Given the description of an element on the screen output the (x, y) to click on. 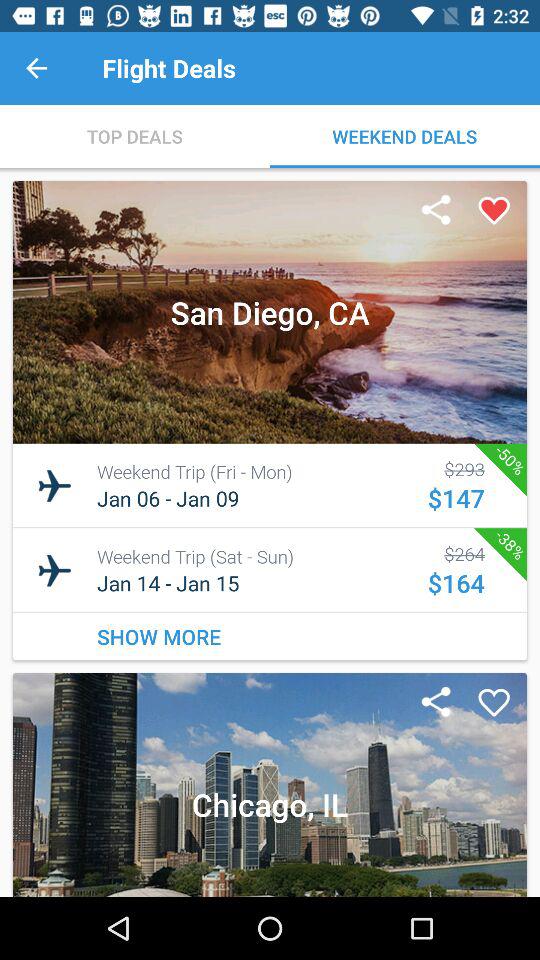
share page (435, 211)
